Given the description of an element on the screen output the (x, y) to click on. 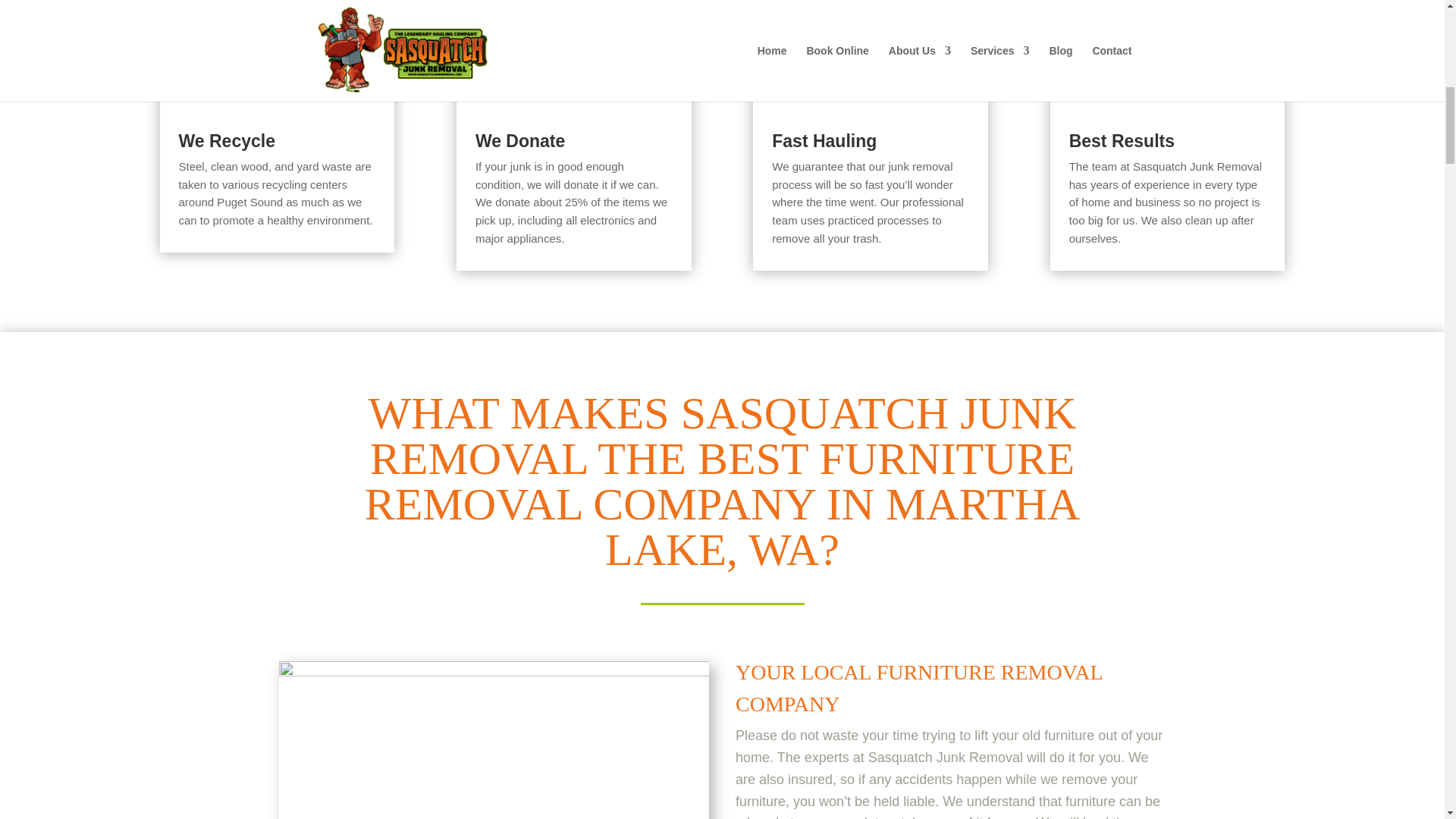
best-results-1 (1167, 50)
we recycle (276, 50)
professionalfurniture removal (494, 739)
fast-haul-1 (870, 50)
we-donate-1 (574, 50)
